Given the description of an element on the screen output the (x, y) to click on. 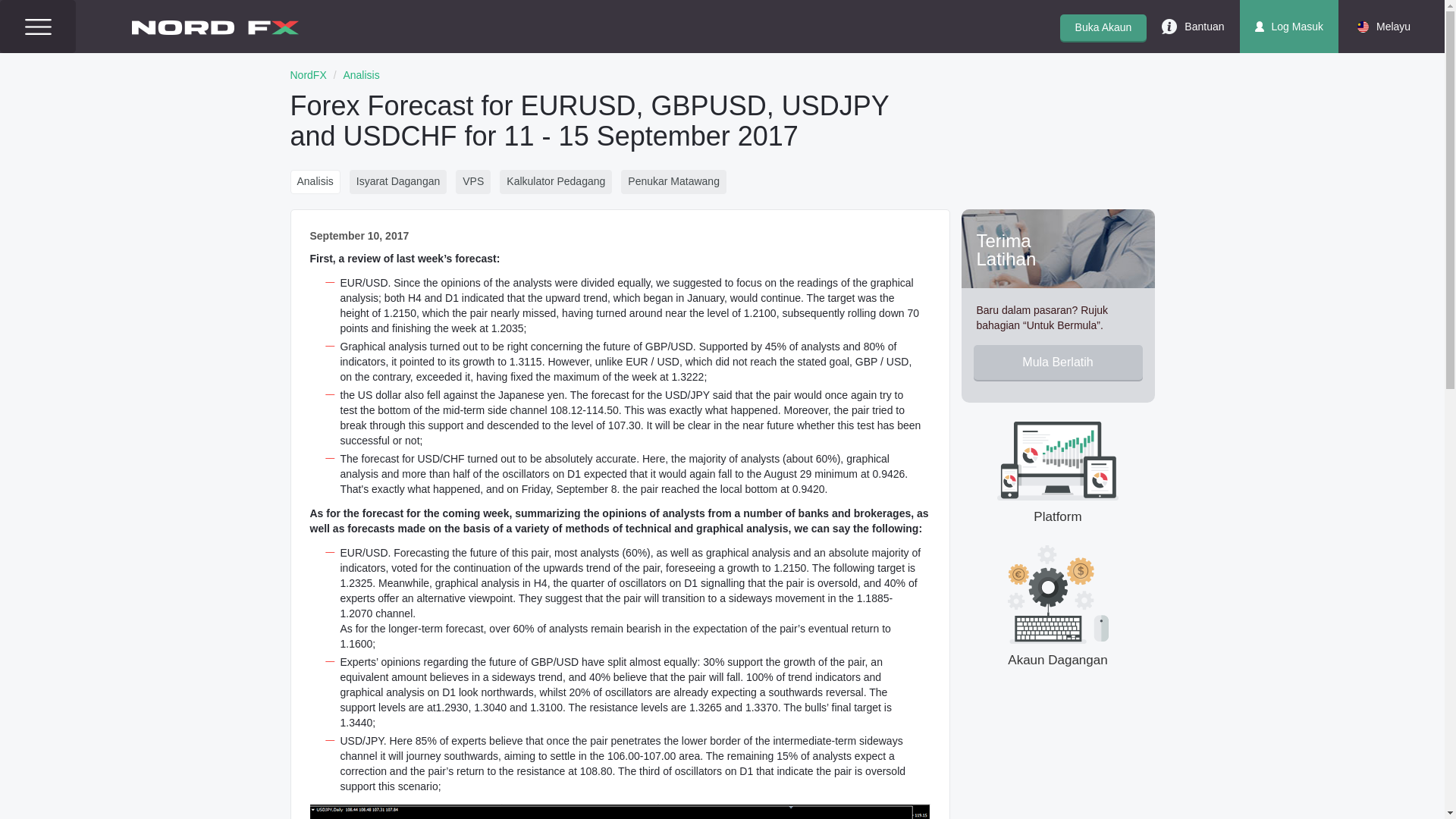
Buka Akaun (1103, 27)
Bantuan (1193, 26)
Log Masuk (1289, 26)
Bantuan (1193, 26)
